Given the description of an element on the screen output the (x, y) to click on. 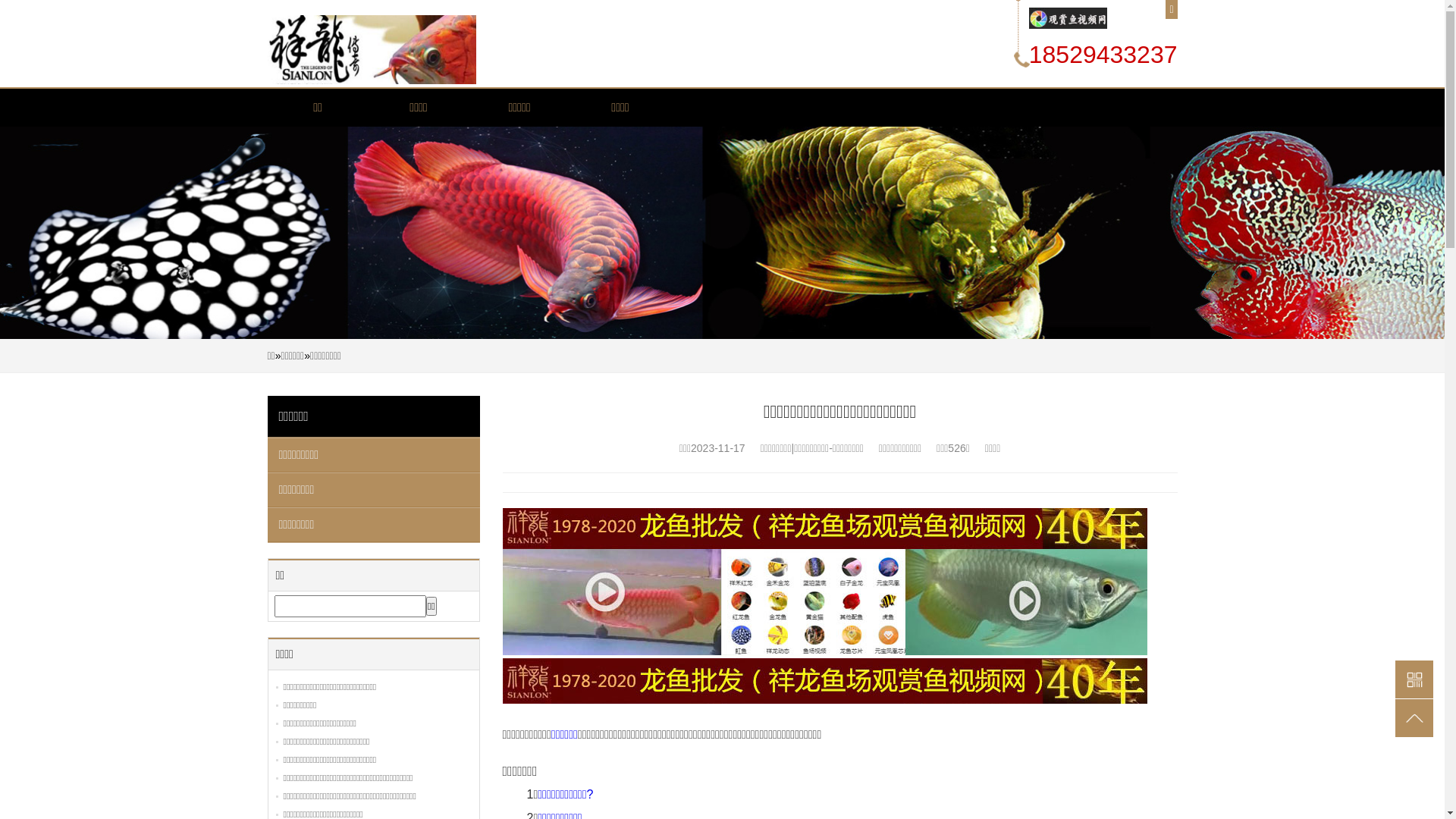
18529433237 Element type: text (1103, 54)
